Given the description of an element on the screen output the (x, y) to click on. 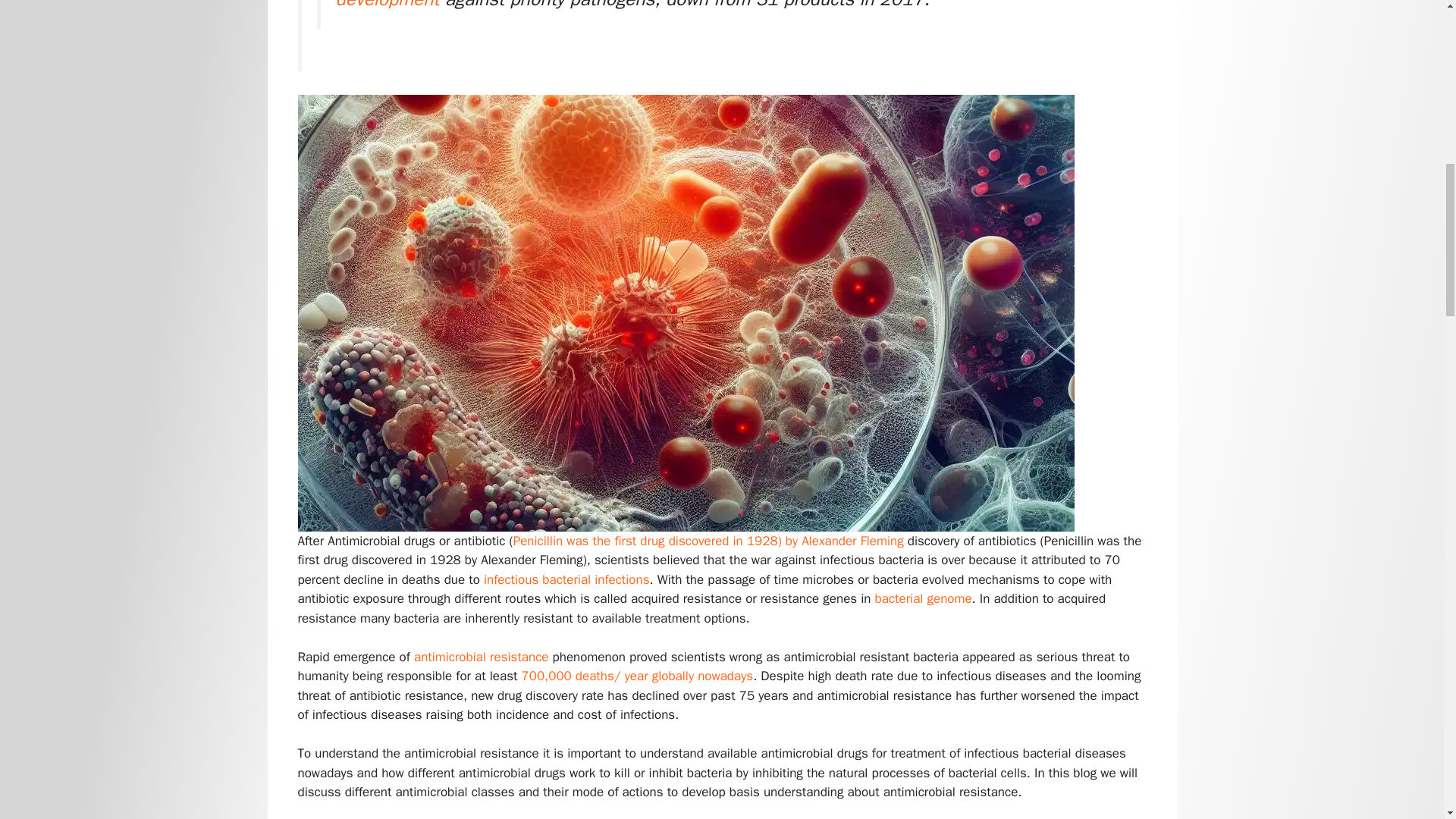
new antibiotics in clinical development (695, 5)
microbial resistance (494, 657)
infectious bacterial infections (566, 579)
anti (424, 657)
bacterial genome (923, 598)
